Given the description of an element on the screen output the (x, y) to click on. 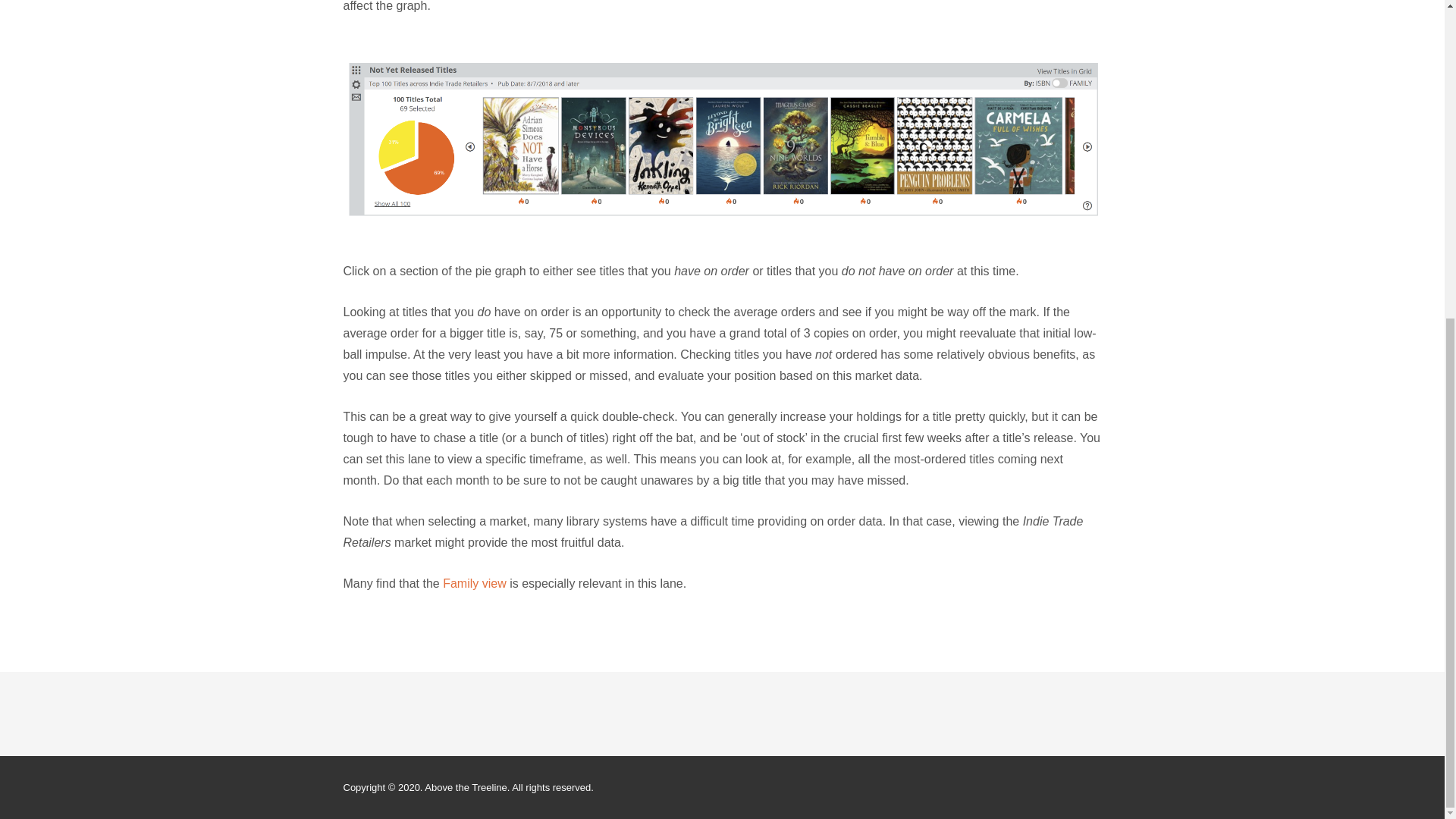
Family view (474, 583)
